Given the description of an element on the screen output the (x, y) to click on. 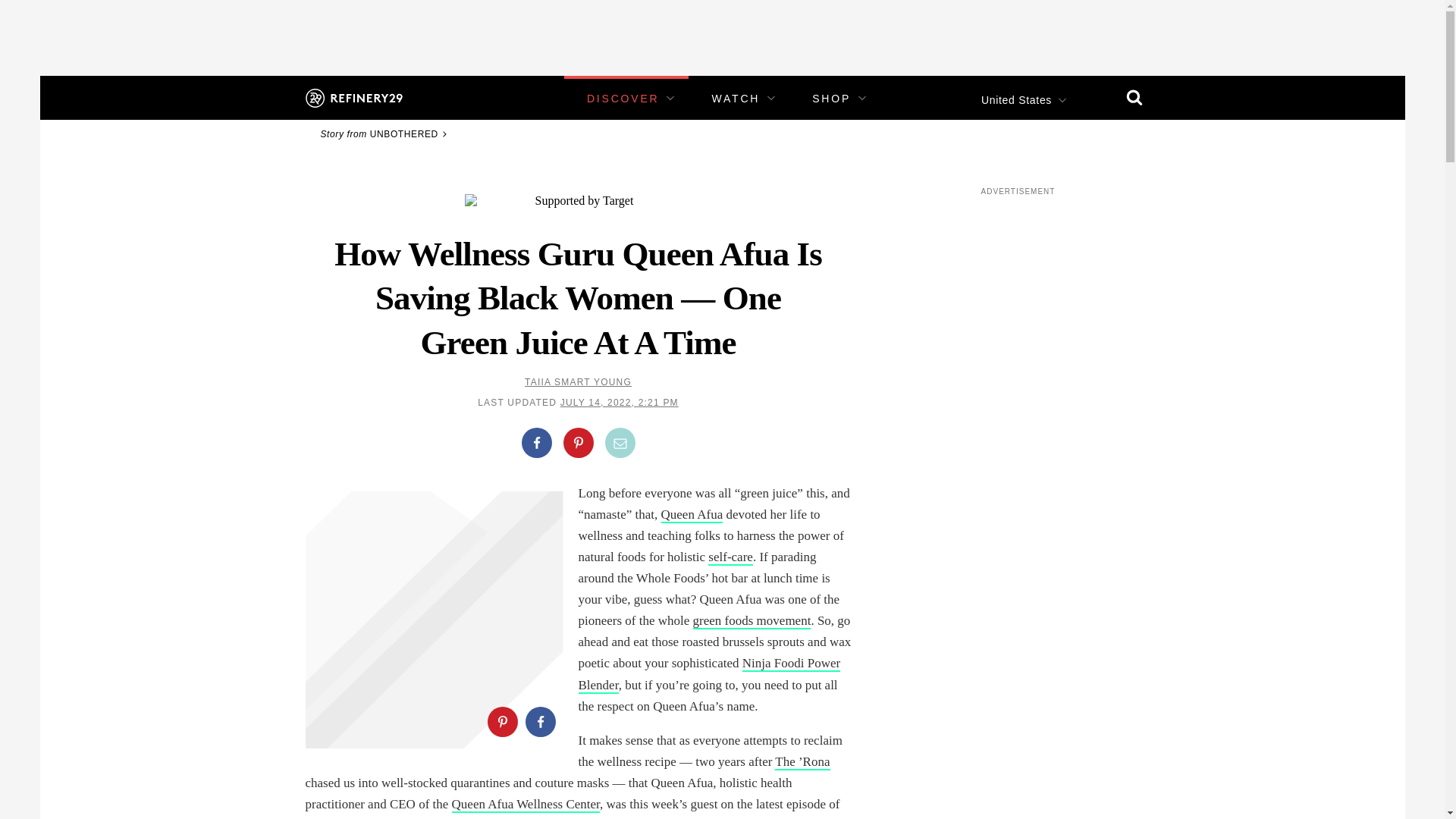
Share by Email (619, 442)
SHOP (831, 98)
Share on Pinterest (577, 442)
Queen Afua (692, 514)
Queen Afua Wellness Center (525, 804)
WATCH (735, 98)
TAIIA SMART YOUNG (577, 381)
Share on Pinterest (501, 721)
self-care (729, 557)
